Given the description of an element on the screen output the (x, y) to click on. 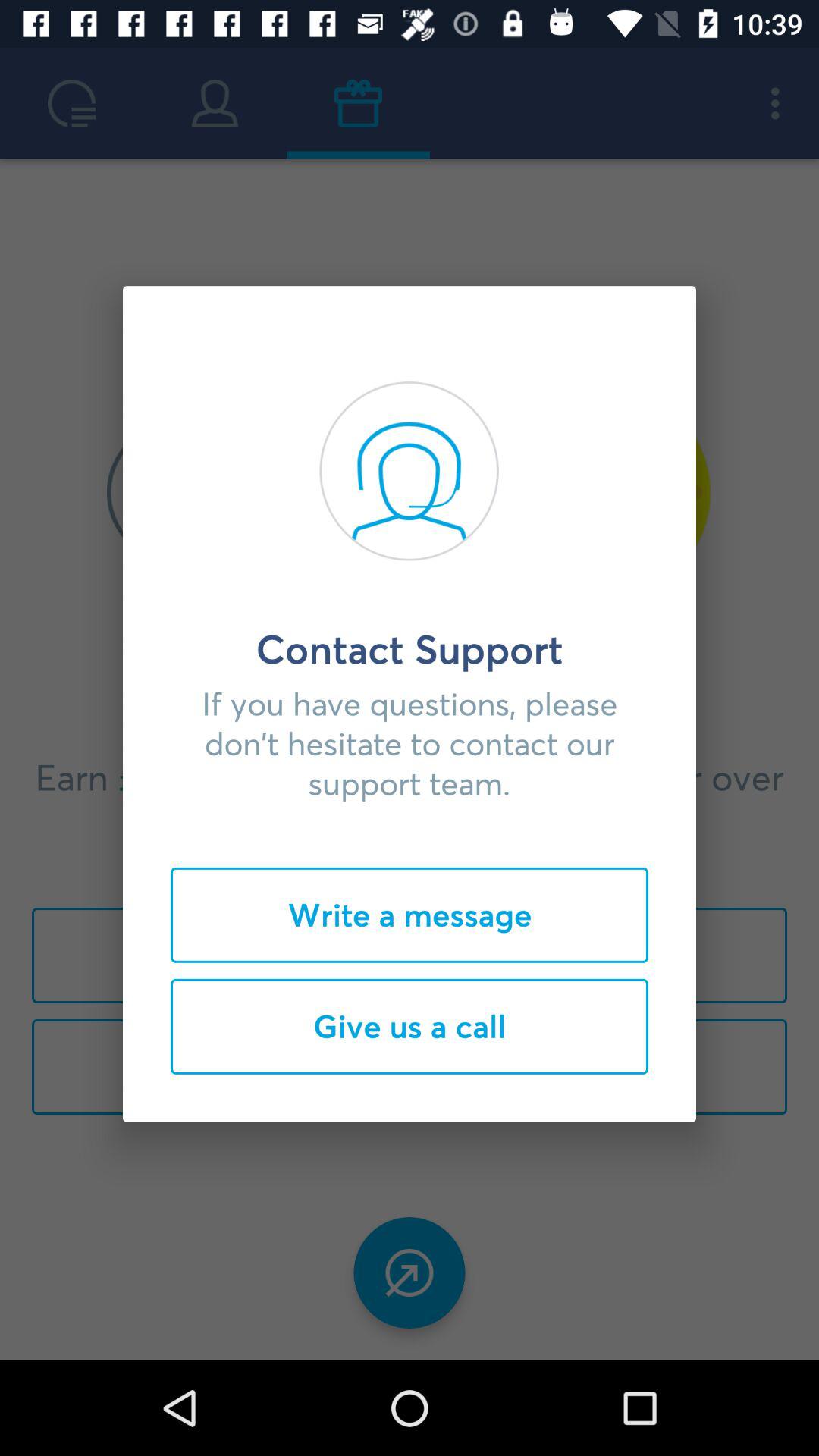
choose the icon above the give us a item (409, 914)
